Given the description of an element on the screen output the (x, y) to click on. 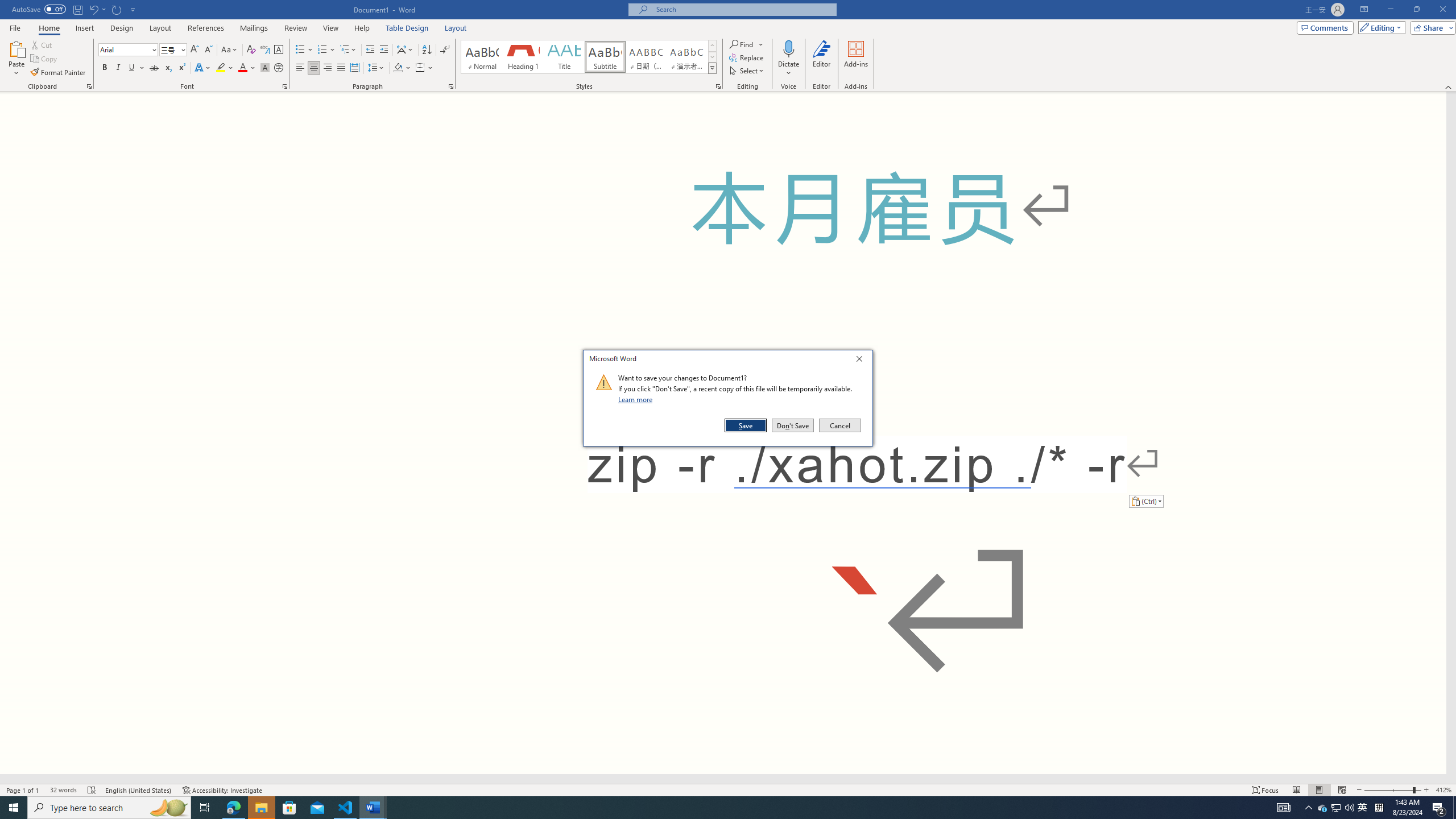
Italic (118, 67)
Styles (711, 67)
Enclose Characters... (278, 67)
Tray Input Indicator - Chinese (Simplified, China) (1378, 807)
Editing (1379, 27)
Show desktop (1454, 807)
Decrease Indent (370, 49)
Change Case (229, 49)
Line and Paragraph Spacing (376, 67)
Editor (821, 58)
